Given the description of an element on the screen output the (x, y) to click on. 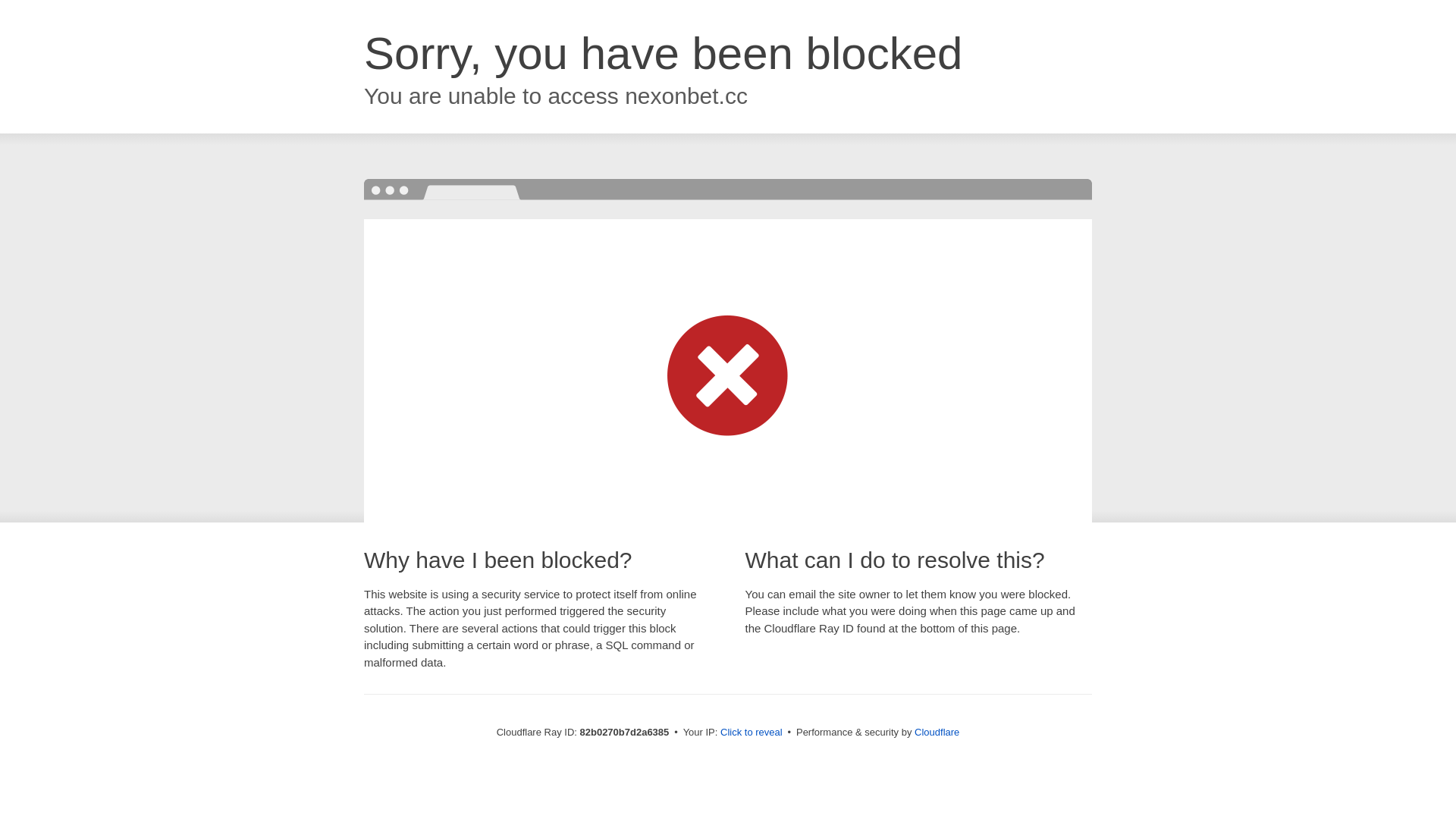
Click to reveal Element type: text (751, 732)
Cloudflare Element type: text (936, 731)
